Given the description of an element on the screen output the (x, y) to click on. 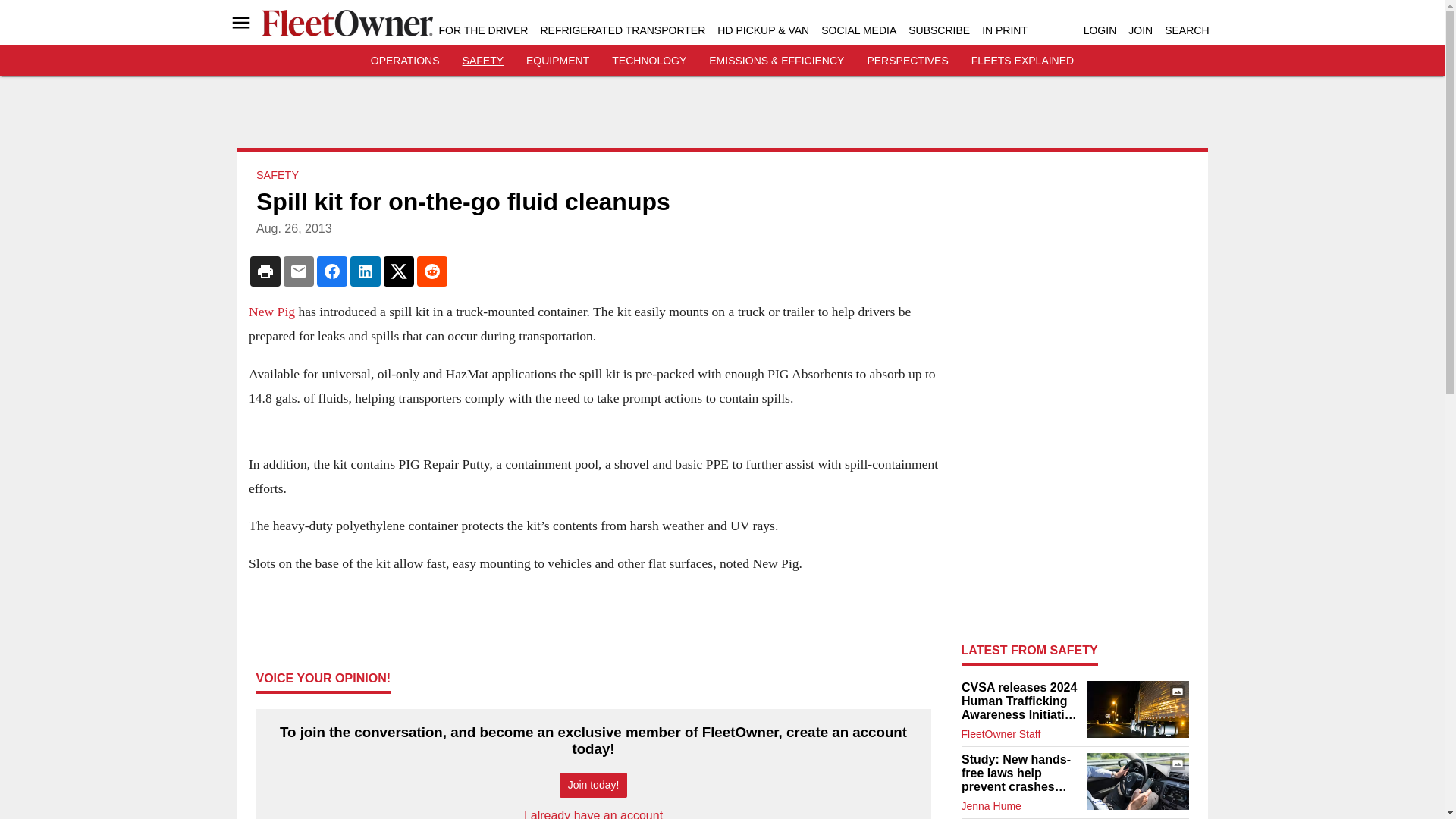
SUBSCRIBE (938, 30)
LOGIN (1099, 30)
OPERATIONS (405, 60)
FLEETS EXPLAINED (1022, 60)
REFRIGERATED TRANSPORTER (622, 30)
JOIN (1140, 30)
SOCIAL MEDIA (858, 30)
TECHNOLOGY (648, 60)
EQUIPMENT (557, 60)
PERSPECTIVES (906, 60)
